Given the description of an element on the screen output the (x, y) to click on. 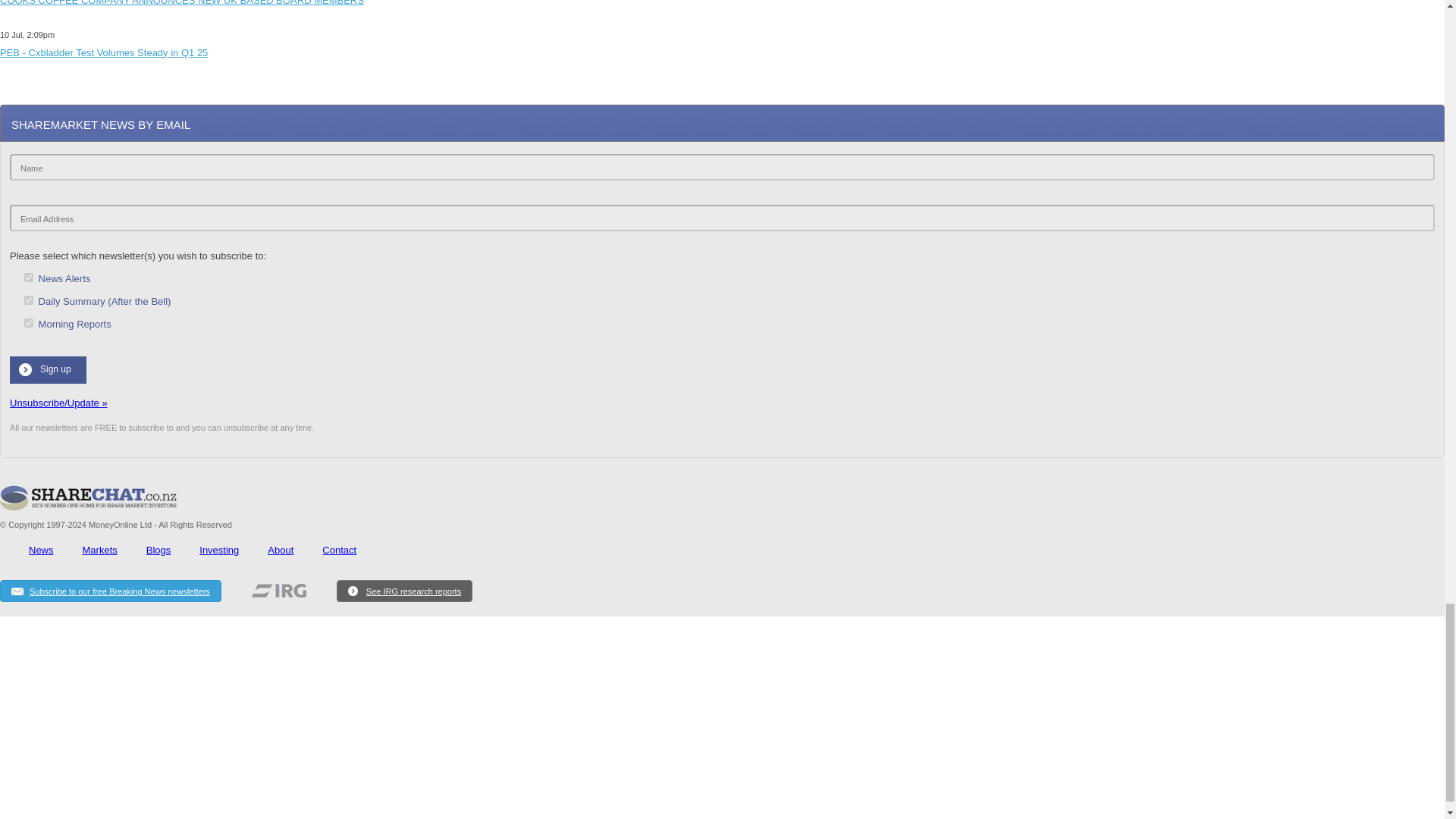
2 (28, 276)
5 (28, 322)
41 (28, 299)
